Given the description of an element on the screen output the (x, y) to click on. 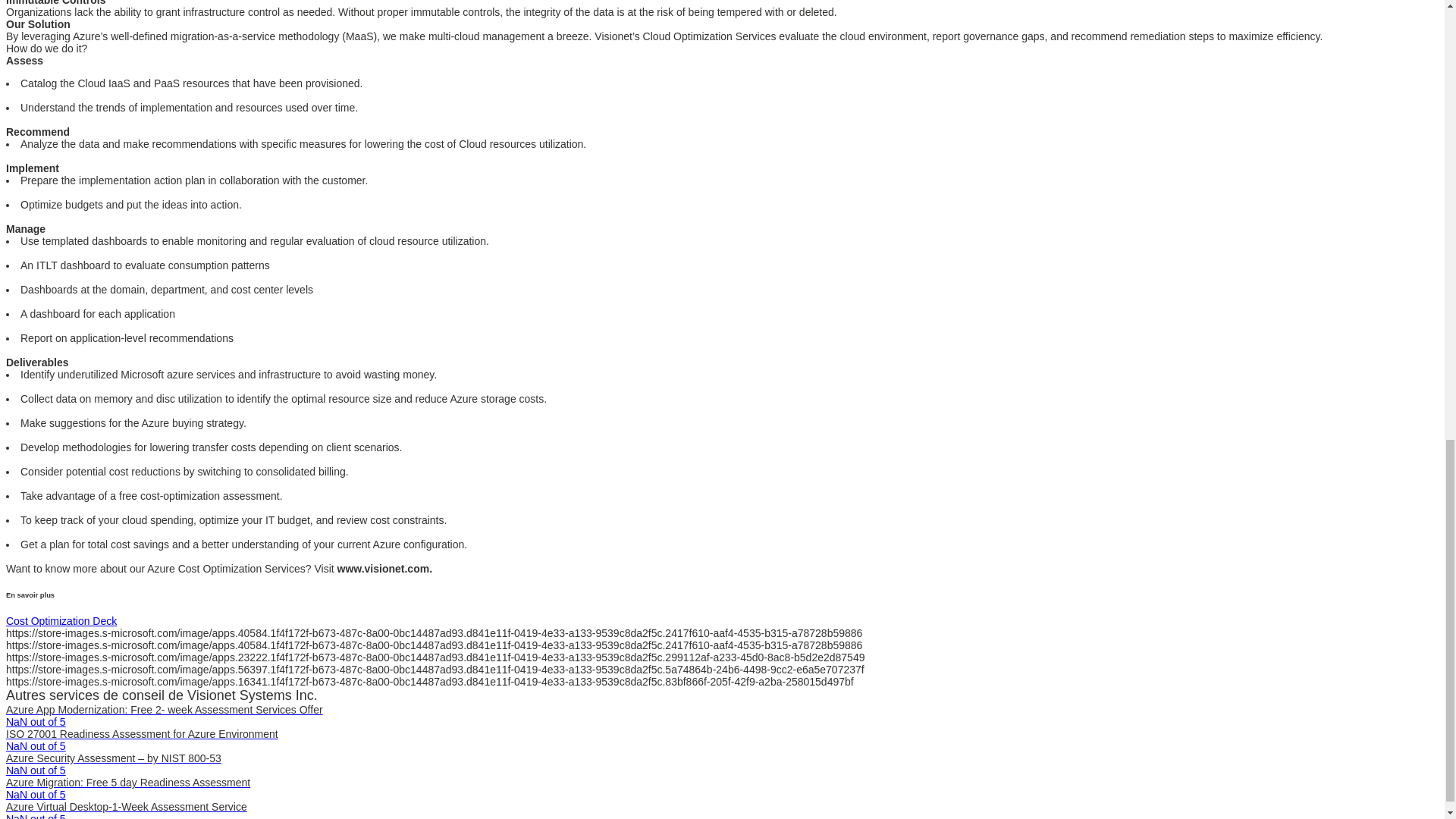
ISO 27001 Readiness Assessment for Azure Environment (141, 734)
Azure Migration: Free 5 day Readiness Assessment (127, 782)
Azure Virtual Desktop-1-Week Assessment Service (126, 806)
